Given the description of an element on the screen output the (x, y) to click on. 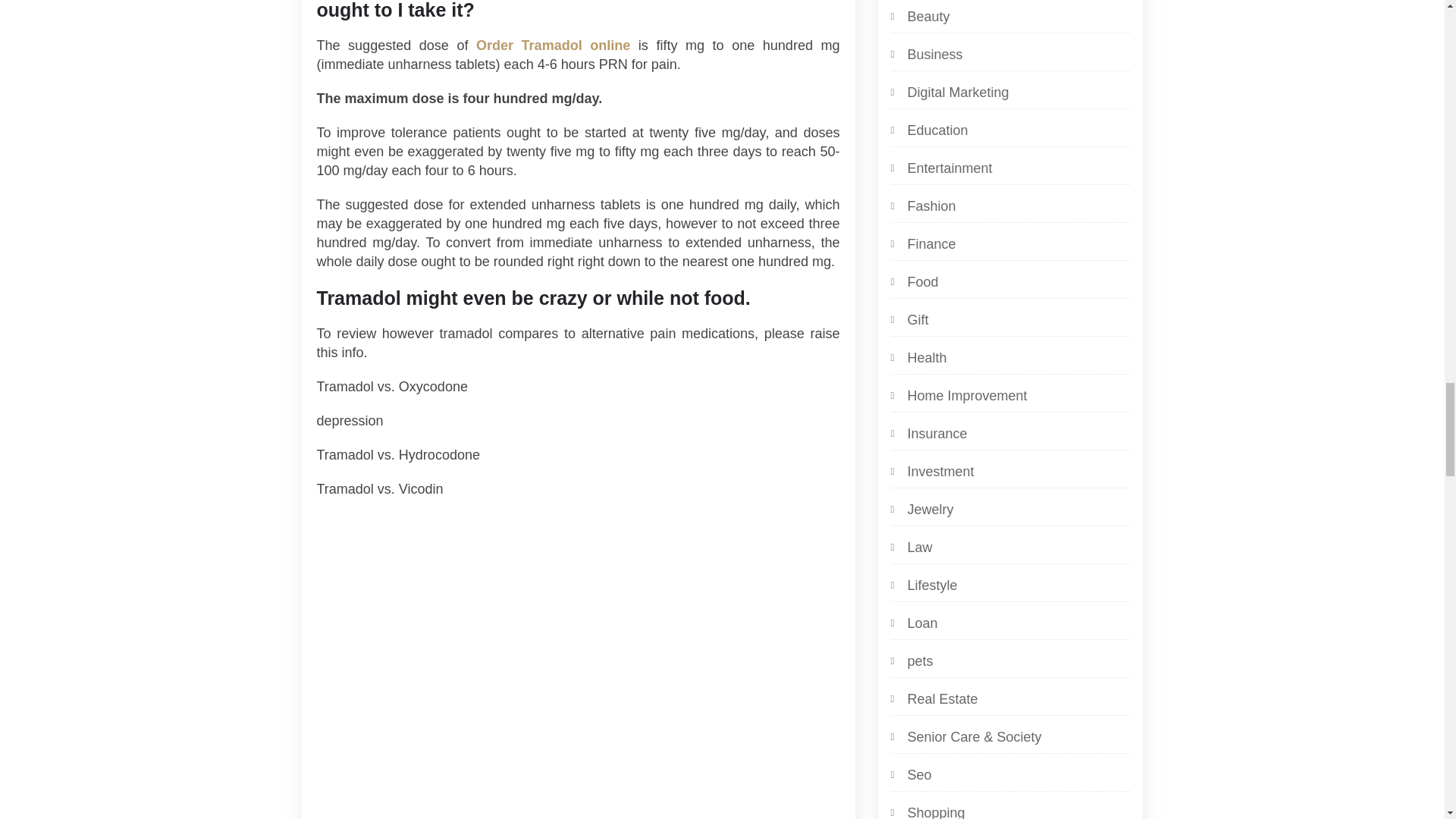
Order Tramadol online (553, 45)
